Given the description of an element on the screen output the (x, y) to click on. 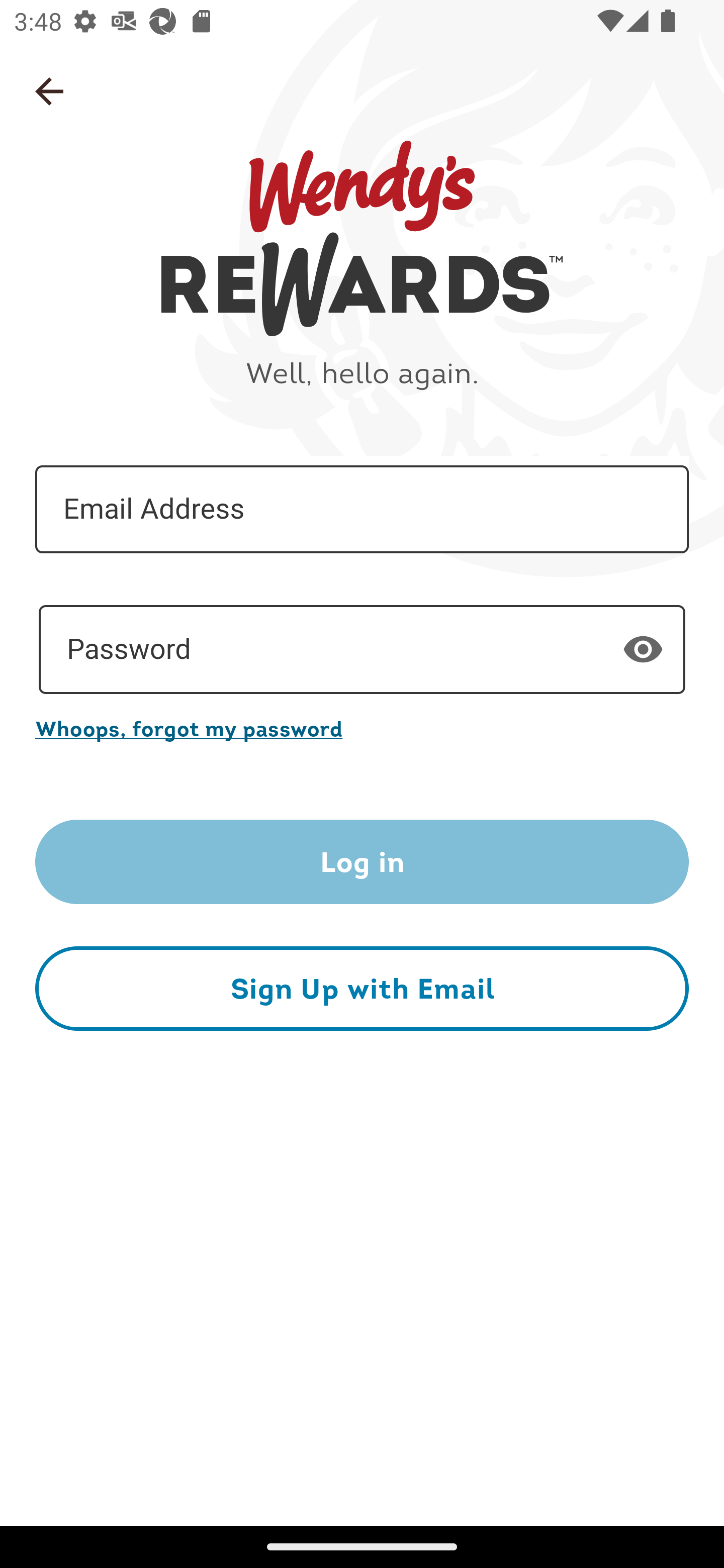
Navigate up (49, 91)
Email Address (361, 509)
Password (361, 649)
Show password (642, 648)
Whoops, forgot my password (361, 728)
Log in (361, 862)
Sign Up with Email (361, 988)
